Given the description of an element on the screen output the (x, y) to click on. 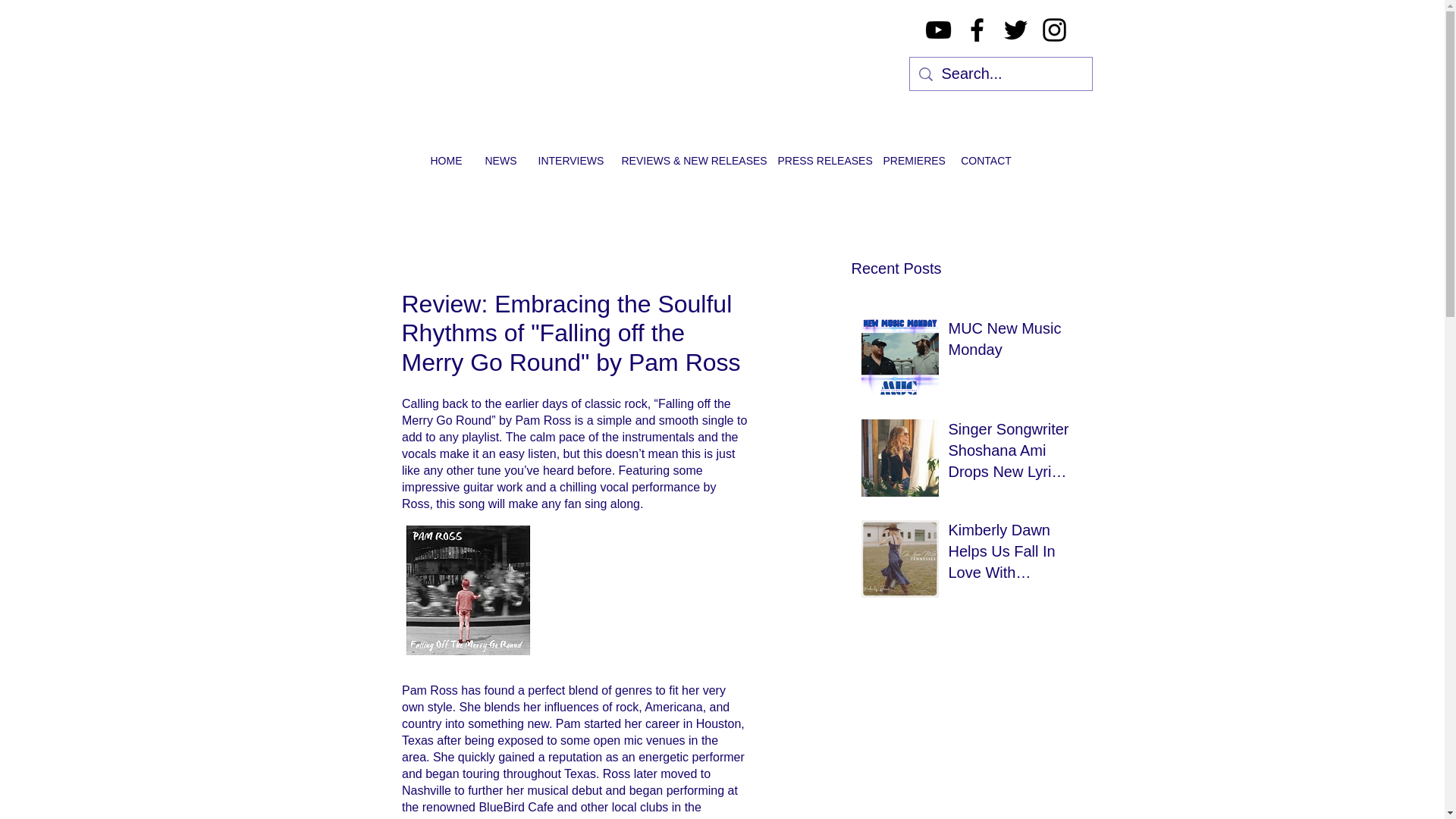
HOME (446, 160)
PREMIERES (910, 160)
MUC New Music Monday (1007, 341)
CONTACT (986, 160)
NEWS (499, 160)
INTERVIEWS (567, 160)
PRESS RELEASES (817, 160)
Kimberly Dawn Helps Us Fall In Love With Tennessee (1007, 553)
